Given the description of an element on the screen output the (x, y) to click on. 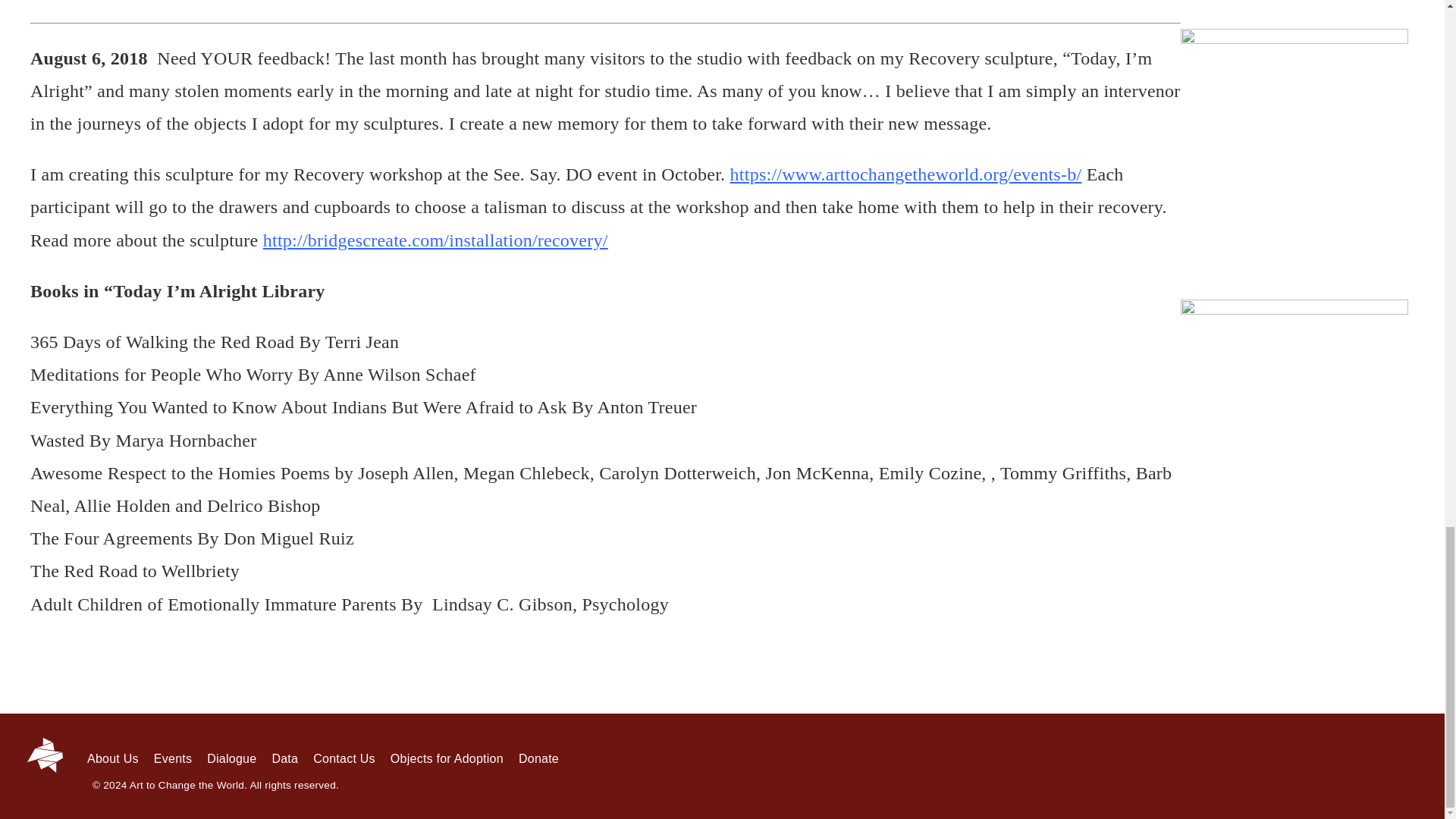
Donate (538, 758)
About Us (112, 758)
Contact Us (344, 758)
Dialogue (231, 758)
Data (284, 758)
Objects for Adoption (446, 758)
Events (173, 758)
